Given the description of an element on the screen output the (x, y) to click on. 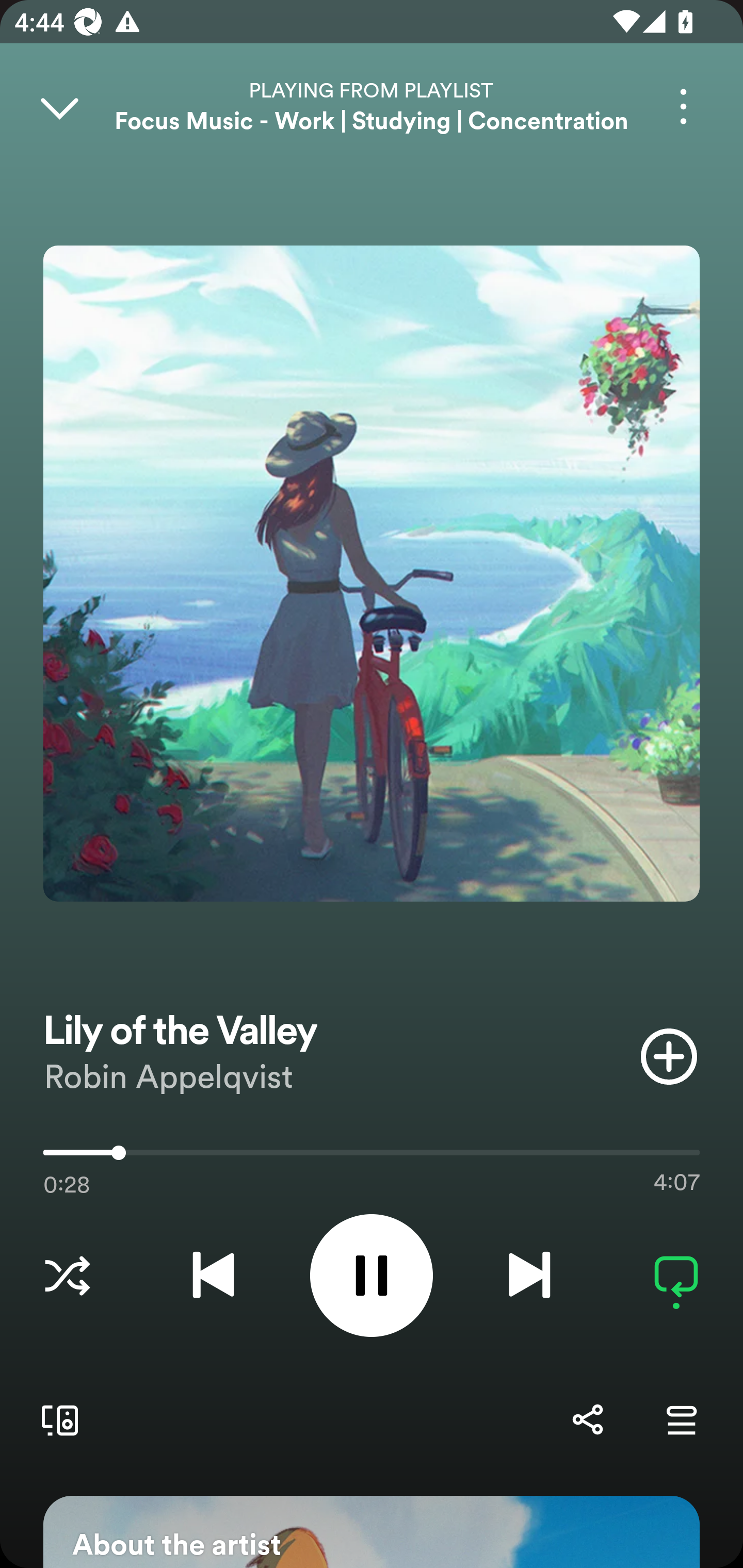
Close (59, 106)
More options for song Lily of the Valley (683, 106)
Add item (669, 1056)
0:28 4:07 28316.0 Use volume keys to adjust (371, 1157)
Pause (371, 1275)
Previous (212, 1275)
Next (529, 1275)
Choose a Listening Mode (66, 1275)
Repeat (676, 1275)
Share (587, 1419)
Go to Queue (681, 1419)
Connect to a device. Opens the devices menu (55, 1419)
About the artist (371, 1531)
